Given the description of an element on the screen output the (x, y) to click on. 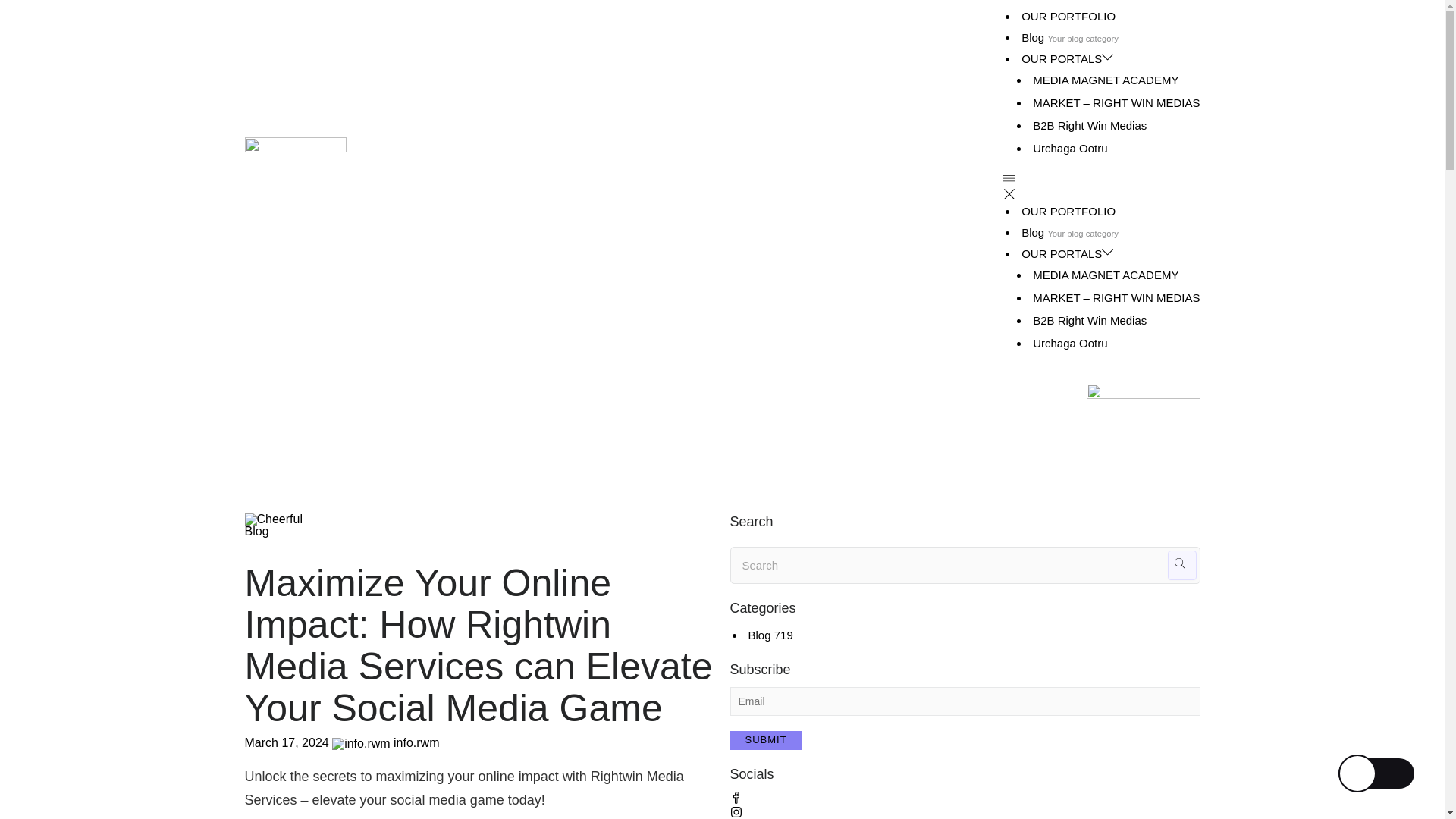
OUR PORTFOLIO (1068, 15)
MEDIA MAGNET ACADEMY (1104, 274)
BLOG POSTS (1032, 232)
Blog (1032, 232)
Urchaga Ootru (1069, 147)
OUR PORTALSarrow-down (1067, 58)
arrow-down (1107, 57)
B2B Right Win Medias (1089, 124)
Blog (255, 530)
info.rwm (414, 742)
